Given the description of an element on the screen output the (x, y) to click on. 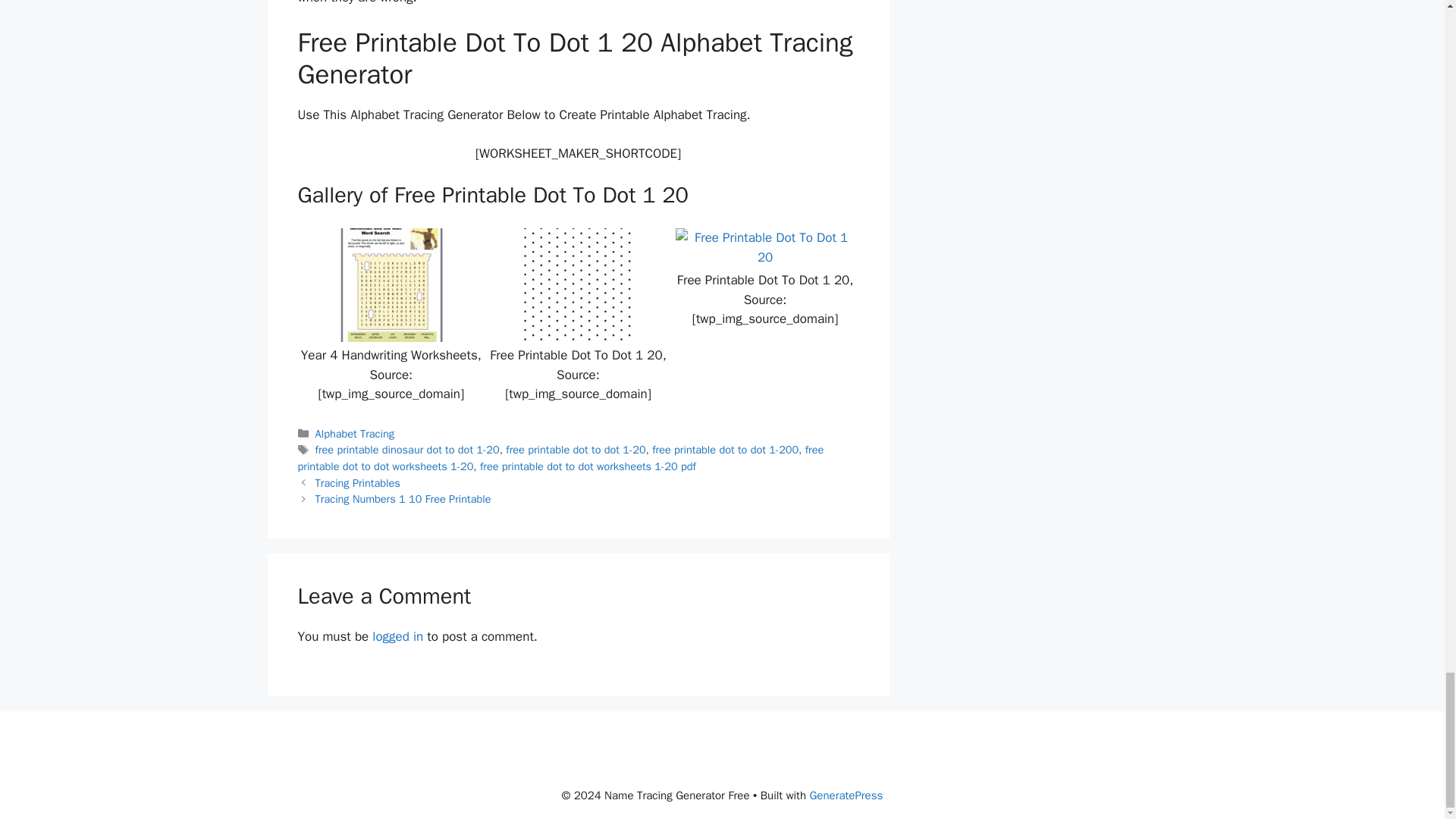
Tracing Printables (357, 482)
free printable dot to dot worksheets 1-20 pdf (587, 466)
free printable dot to dot worksheets 1-20 (560, 458)
Alphabet Tracing (354, 433)
Tracing Numbers 1 10 Free Printable (403, 499)
logged in (397, 636)
free printable dinosaur dot to dot 1-20 (407, 449)
free printable dot to dot 1-20 (575, 449)
GeneratePress (845, 795)
free printable dot to dot 1-200 (724, 449)
